Given the description of an element on the screen output the (x, y) to click on. 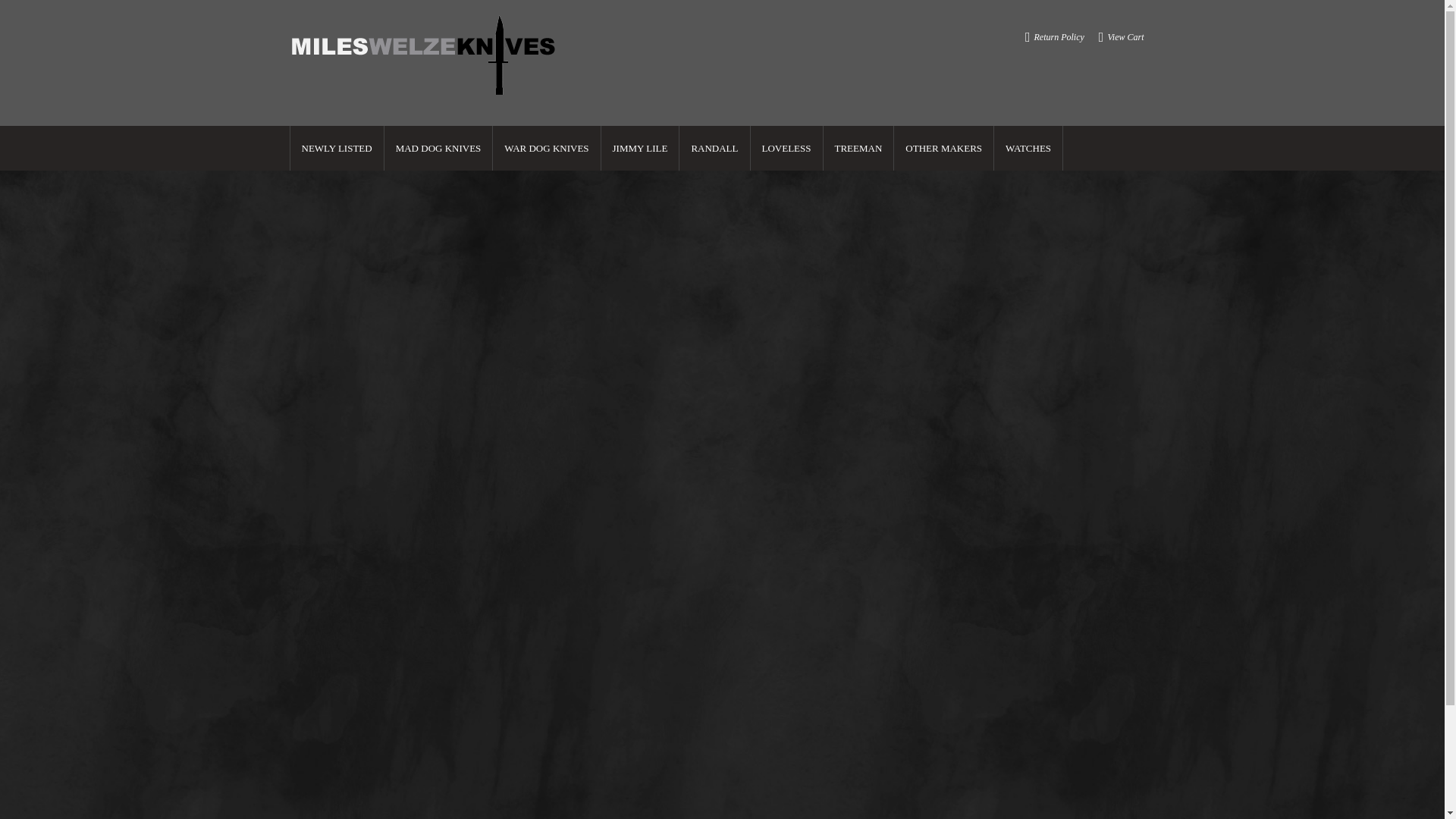
JIMMY LILE (640, 148)
NEWLY LISTED (336, 148)
WAR DOG KNIVES (546, 148)
Return Policy (1058, 37)
View Cart (1124, 37)
MAD DOG KNIVES (438, 148)
Miles Welze (424, 56)
